Given the description of an element on the screen output the (x, y) to click on. 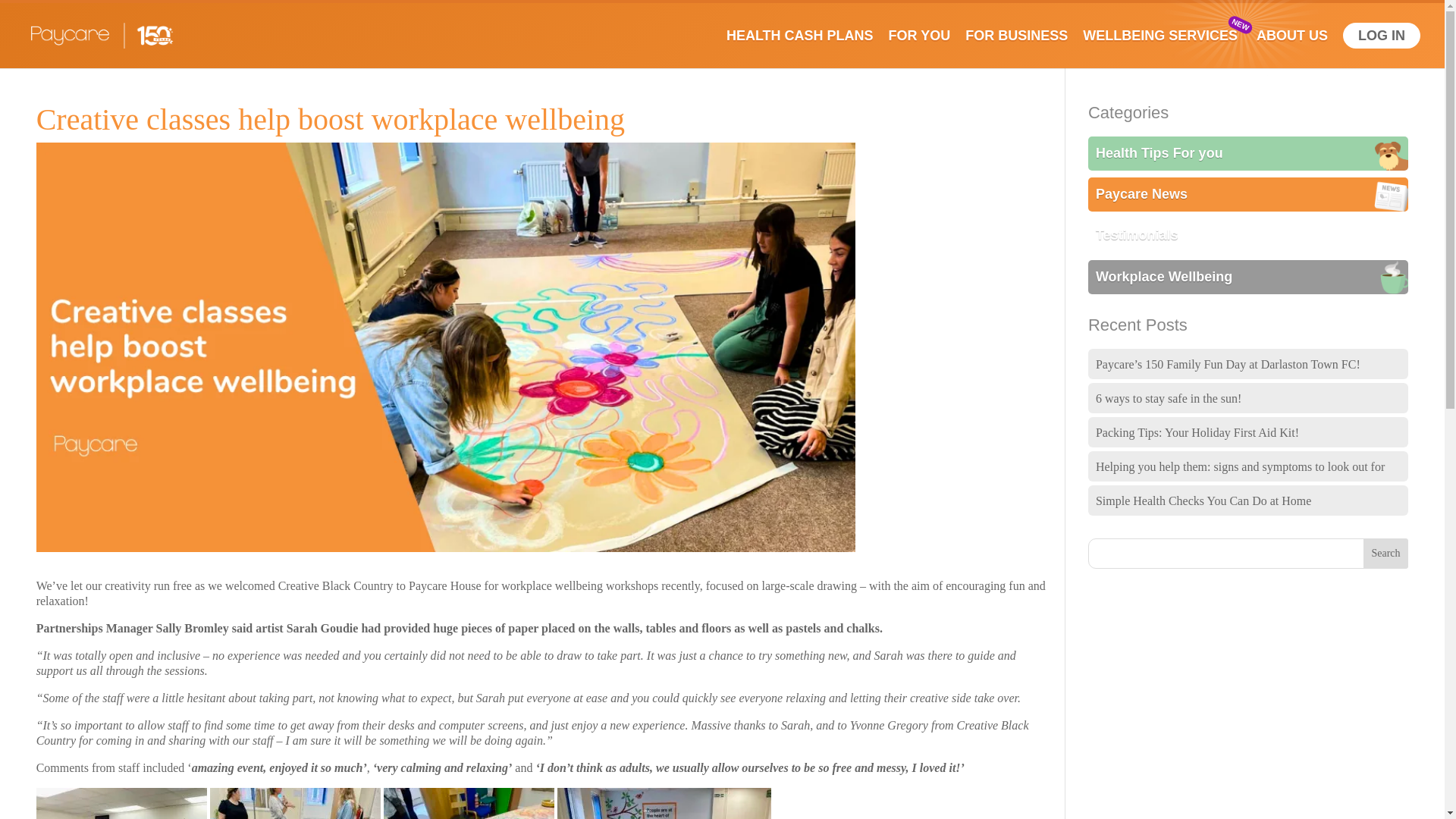
FOR YOU (927, 48)
FOR BUSINESS (1024, 48)
WELLBEING SERVICES (1167, 48)
ABOUT US (1299, 48)
HEALTH CASH PLANS (807, 48)
Search (1385, 553)
